Given the description of an element on the screen output the (x, y) to click on. 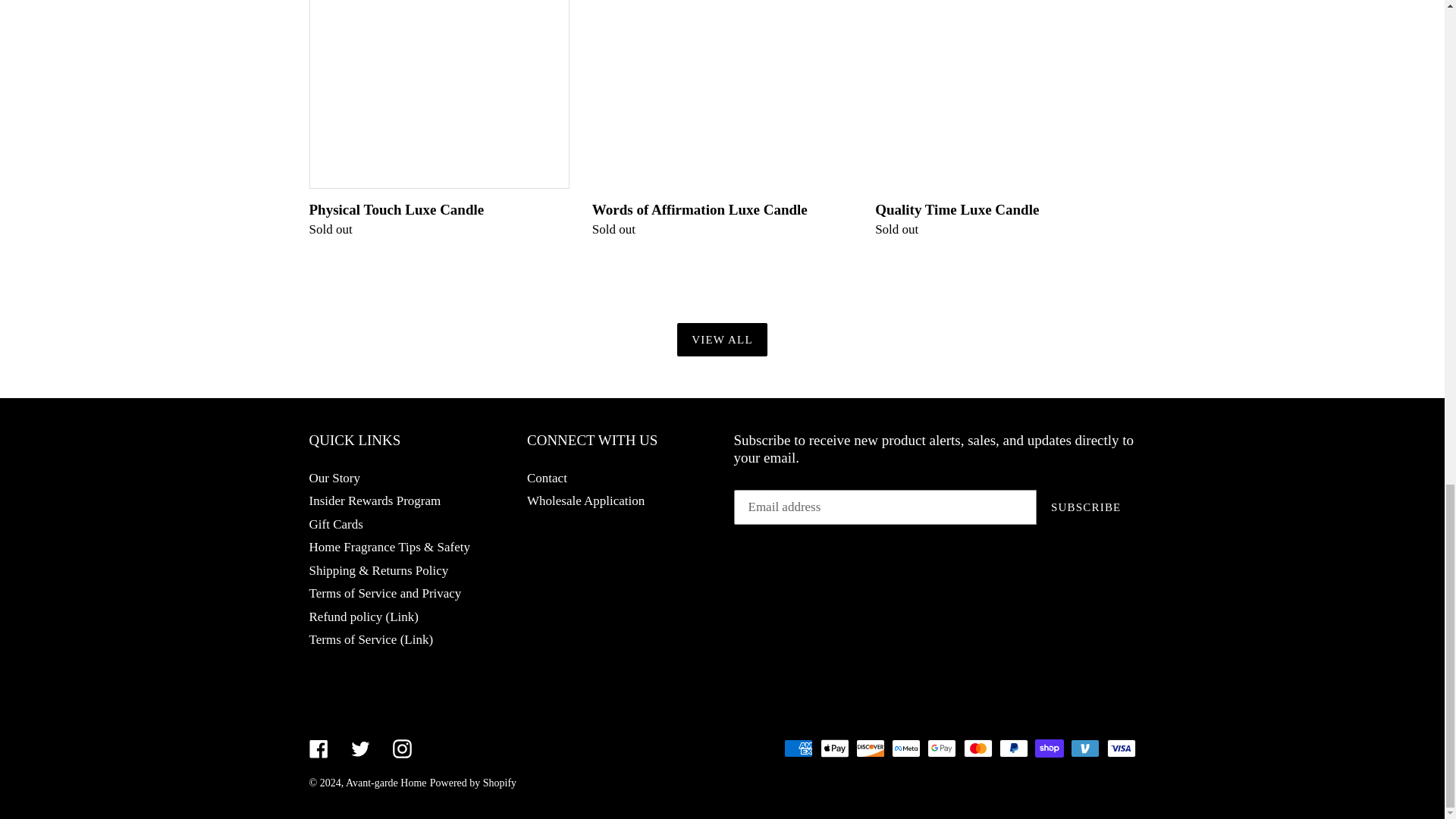
Terms of Service and Privacy (384, 593)
Gift Cards (335, 523)
Insider Rewards Program (374, 500)
Words of Affirmation Luxe Candle (721, 119)
Contact (547, 477)
Quality Time Luxe Candle (1005, 119)
Our Story (334, 477)
Physical Touch Luxe Candle (438, 119)
VIEW ALL (722, 339)
